Given the description of an element on the screen output the (x, y) to click on. 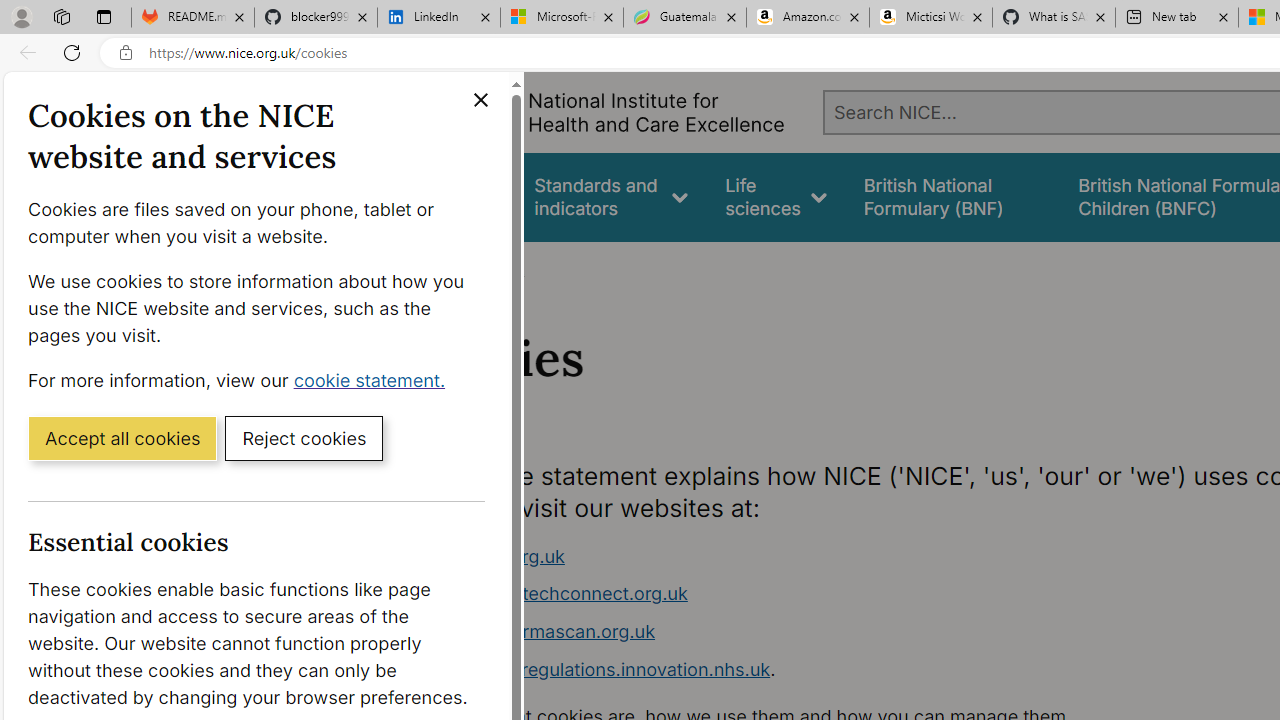
Home> (433, 268)
www.digitalregulations.innovation.nhs.uk (595, 668)
www.nice.org.uk (796, 556)
